Given the description of an element on the screen output the (x, y) to click on. 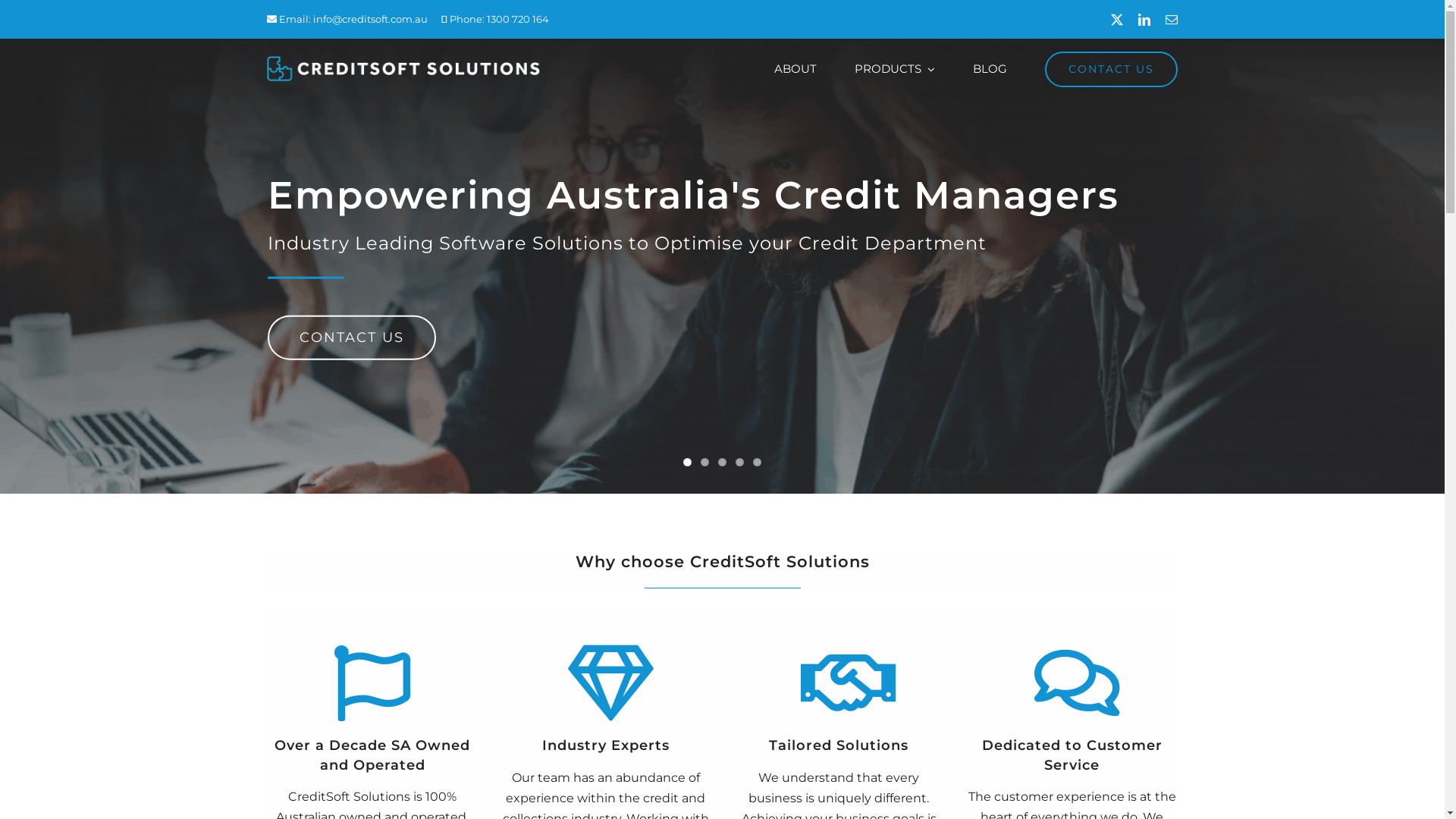
ABOUT Element type: text (795, 68)
2 Element type: text (704, 462)
CONTACT US Element type: text (350, 336)
1 Element type: text (687, 462)
5 Element type: text (757, 462)
PRODUCTS Element type: text (894, 68)
BLOG Element type: text (989, 68)
Email: info@creditsoft.com.au Element type: text (346, 18)
4 Element type: text (739, 462)
CONTACT US Element type: text (1110, 68)
3 Element type: text (722, 462)
